Given the description of an element on the screen output the (x, y) to click on. 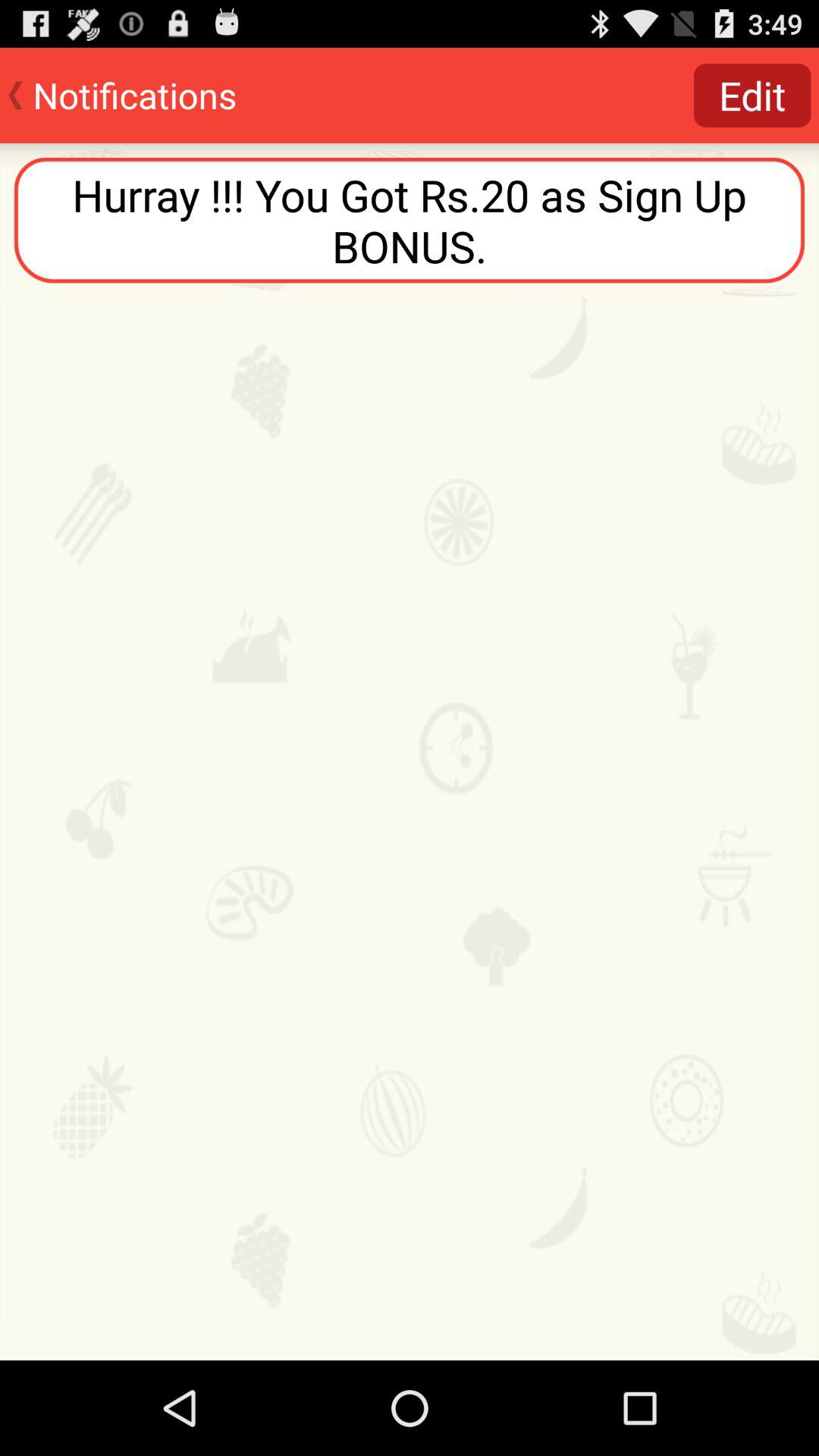
flip to the    edit    button (752, 95)
